Given the description of an element on the screen output the (x, y) to click on. 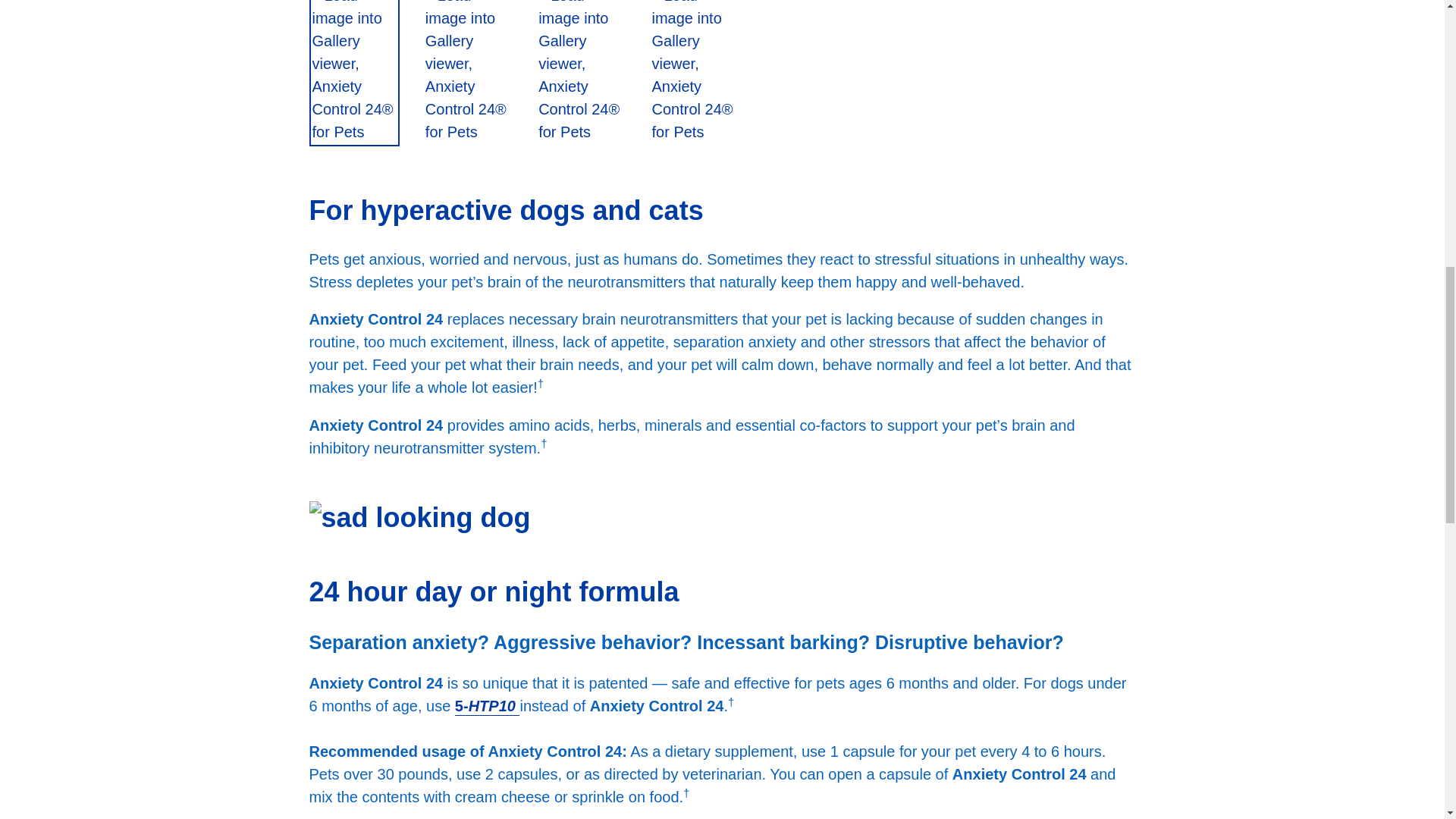
5-HTP10 (486, 706)
